Given the description of an element on the screen output the (x, y) to click on. 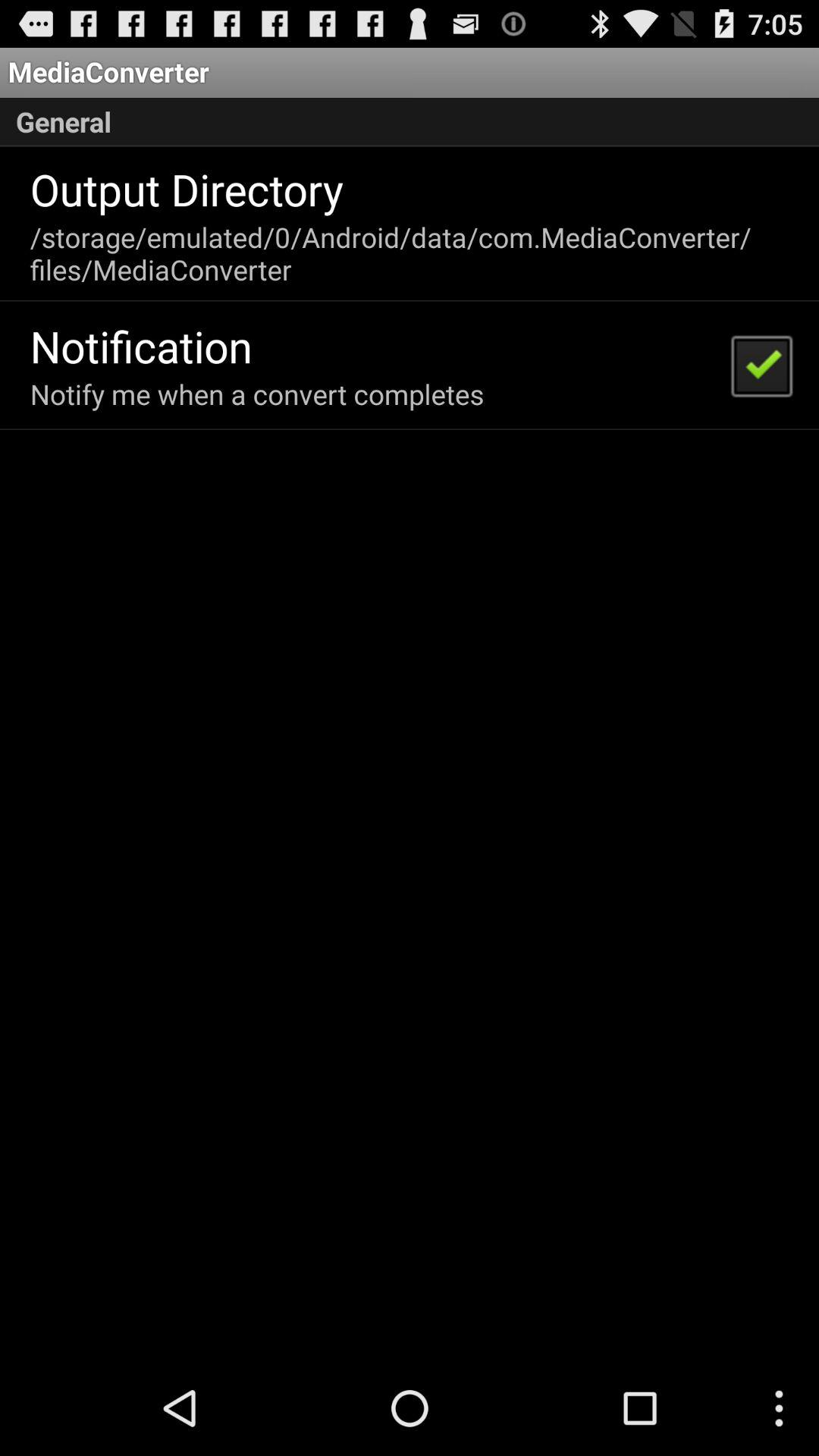
turn off item next to the notify me when icon (761, 364)
